Given the description of an element on the screen output the (x, y) to click on. 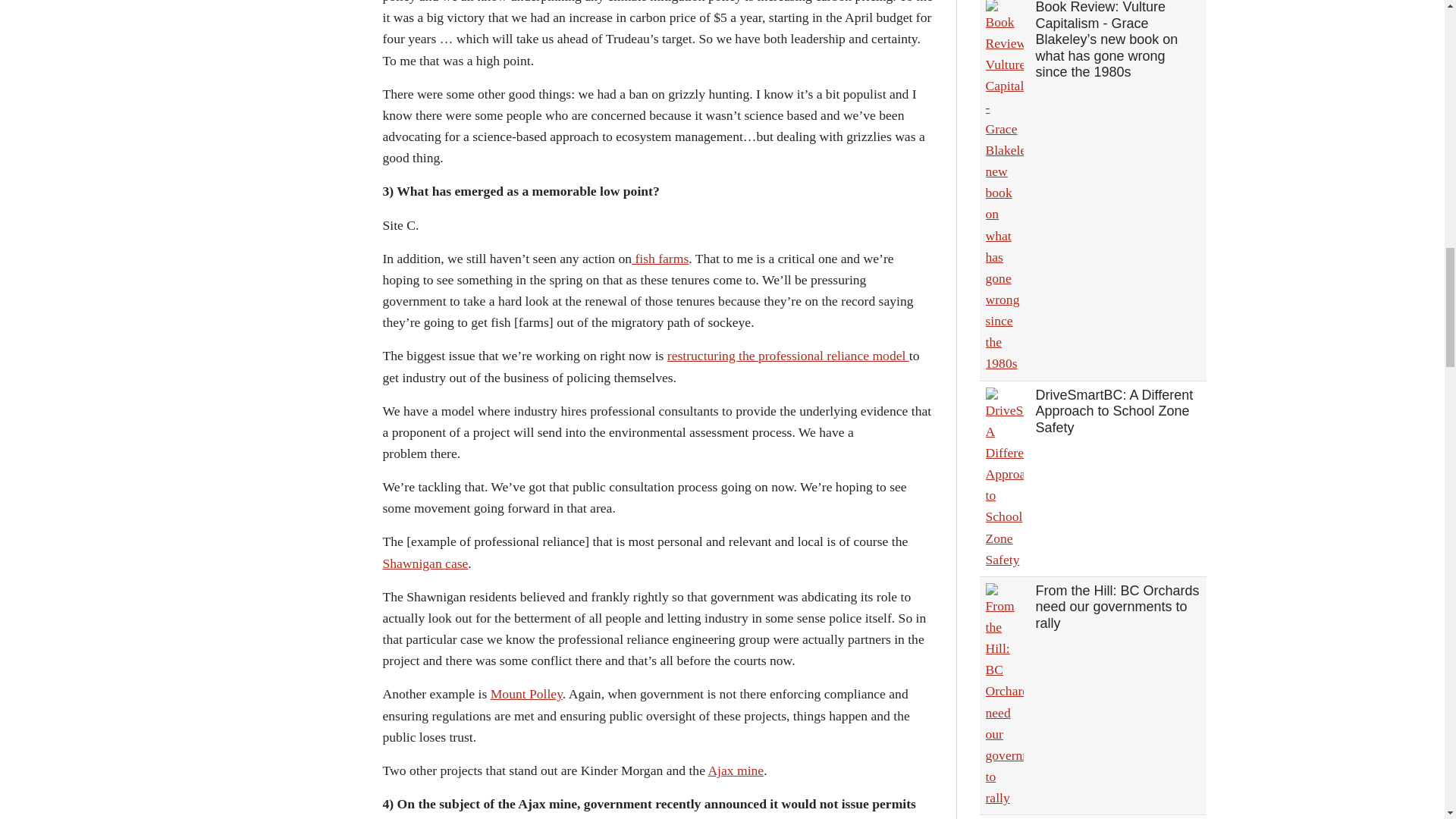
Mount Polley (526, 693)
restructuring the professional reliance model (787, 355)
Ajax mine (734, 770)
Shawnigan case (424, 563)
fish farms (659, 258)
